Given the description of an element on the screen output the (x, y) to click on. 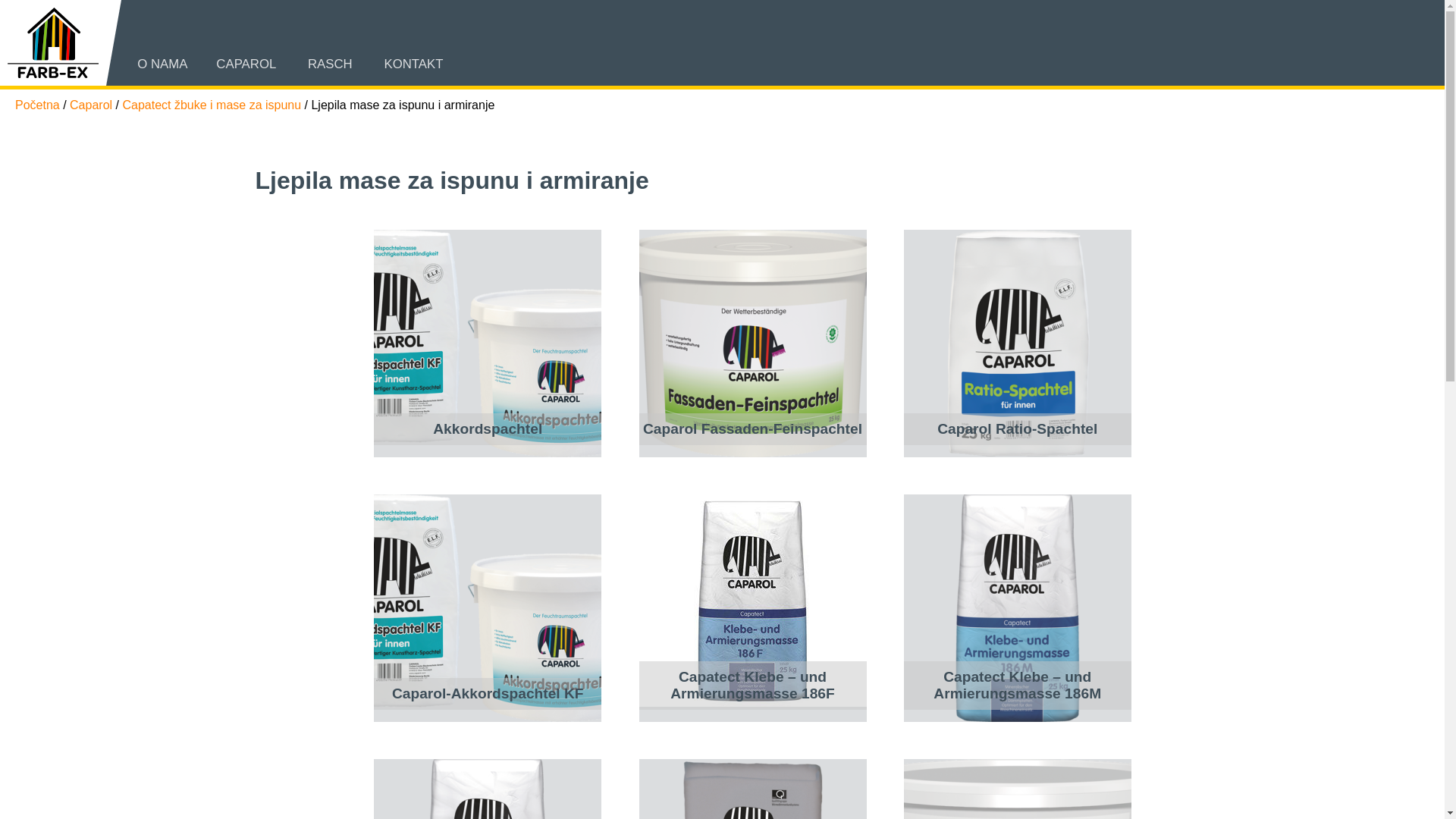
Caparol-Akkordspachtel KF Element type: text (487, 607)
Caparol Fassaden-Feinspachtel Element type: text (752, 343)
Caparol Element type: text (90, 104)
CAPAROL Element type: text (246, 63)
KONTAKT Element type: text (412, 63)
RASCH Element type: text (329, 63)
O NAMA Element type: text (162, 63)
Akkordspachtel Element type: text (487, 343)
Caparol Ratio-Spachtel Element type: text (1017, 343)
